Given the description of an element on the screen output the (x, y) to click on. 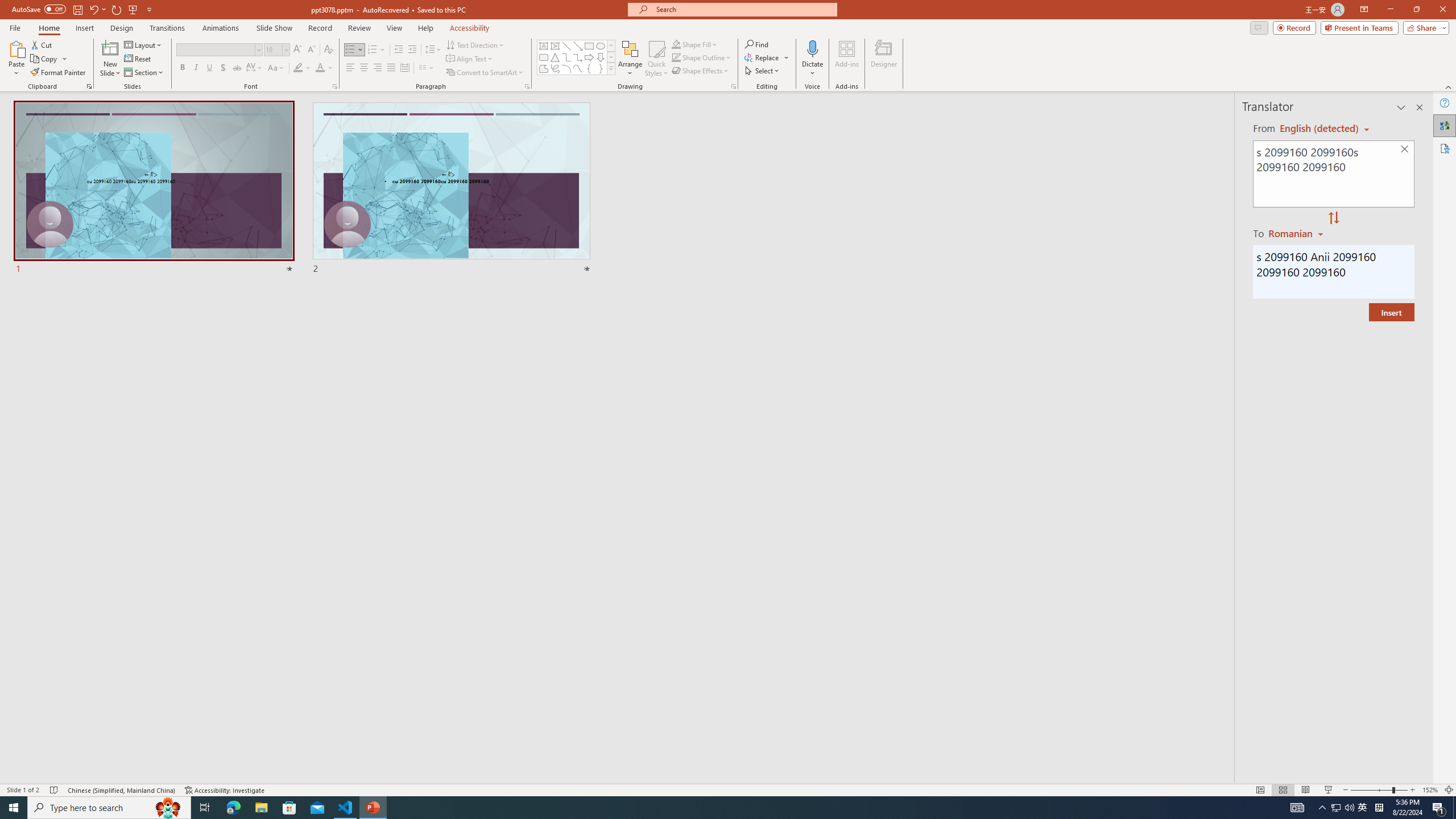
Shape Fill (694, 44)
Increase Font Size (297, 49)
Rectangle: Rounded Corners (543, 57)
Oval (600, 45)
Connector: Elbow (566, 57)
AutomationID: ShapesInsertGallery (576, 57)
